Given the description of an element on the screen output the (x, y) to click on. 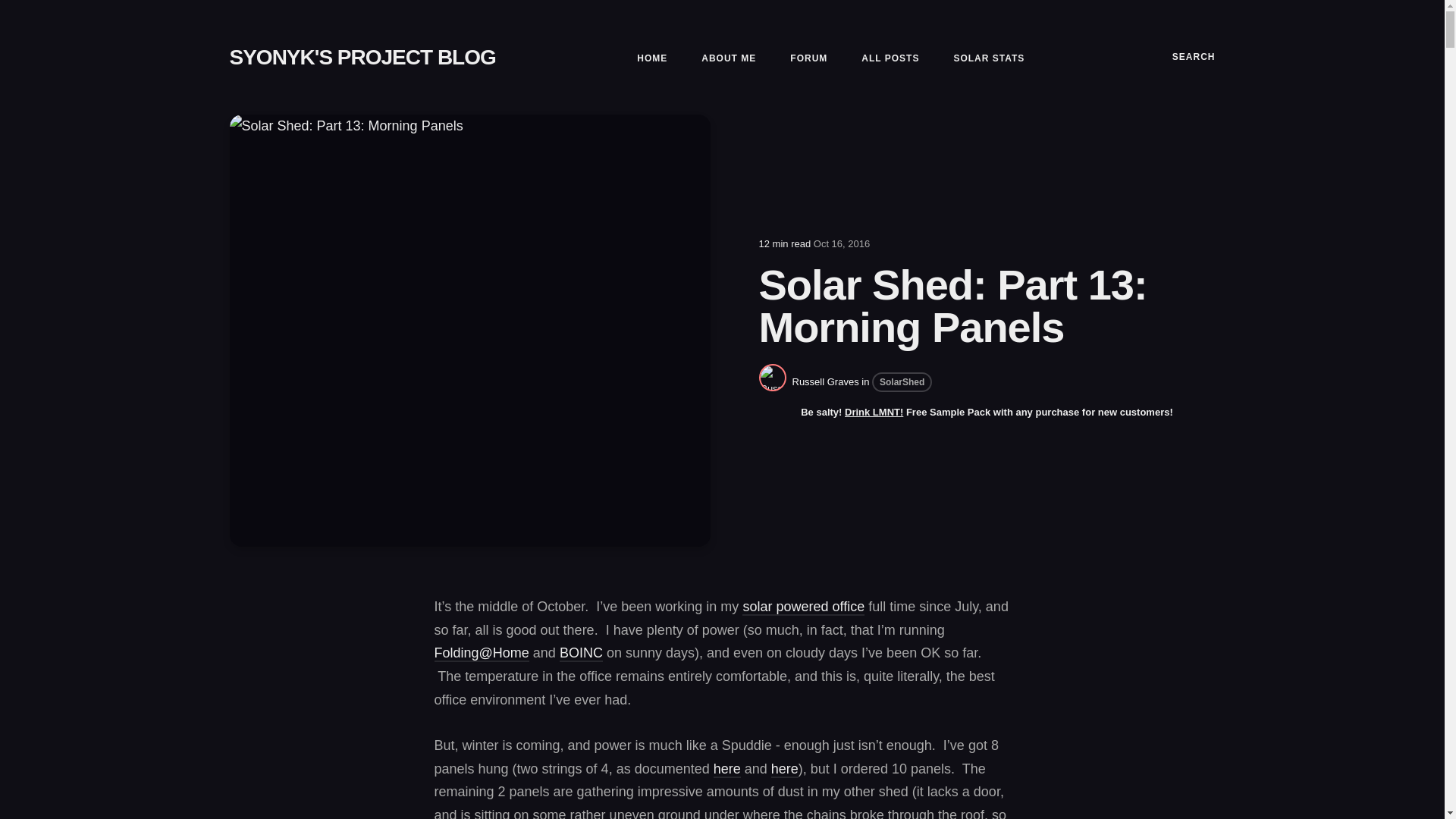
Russell Graves (825, 381)
solar powered office (803, 606)
SOLAR STATS (989, 58)
Drink LMNT! (873, 411)
FORUM (808, 58)
here (727, 769)
ABOUT ME (728, 58)
HOME (651, 58)
BOINC (580, 653)
ALL POSTS (889, 58)
SYONYK'S PROJECT BLOG (361, 56)
SolarShed (901, 382)
here (784, 769)
